Given the description of an element on the screen output the (x, y) to click on. 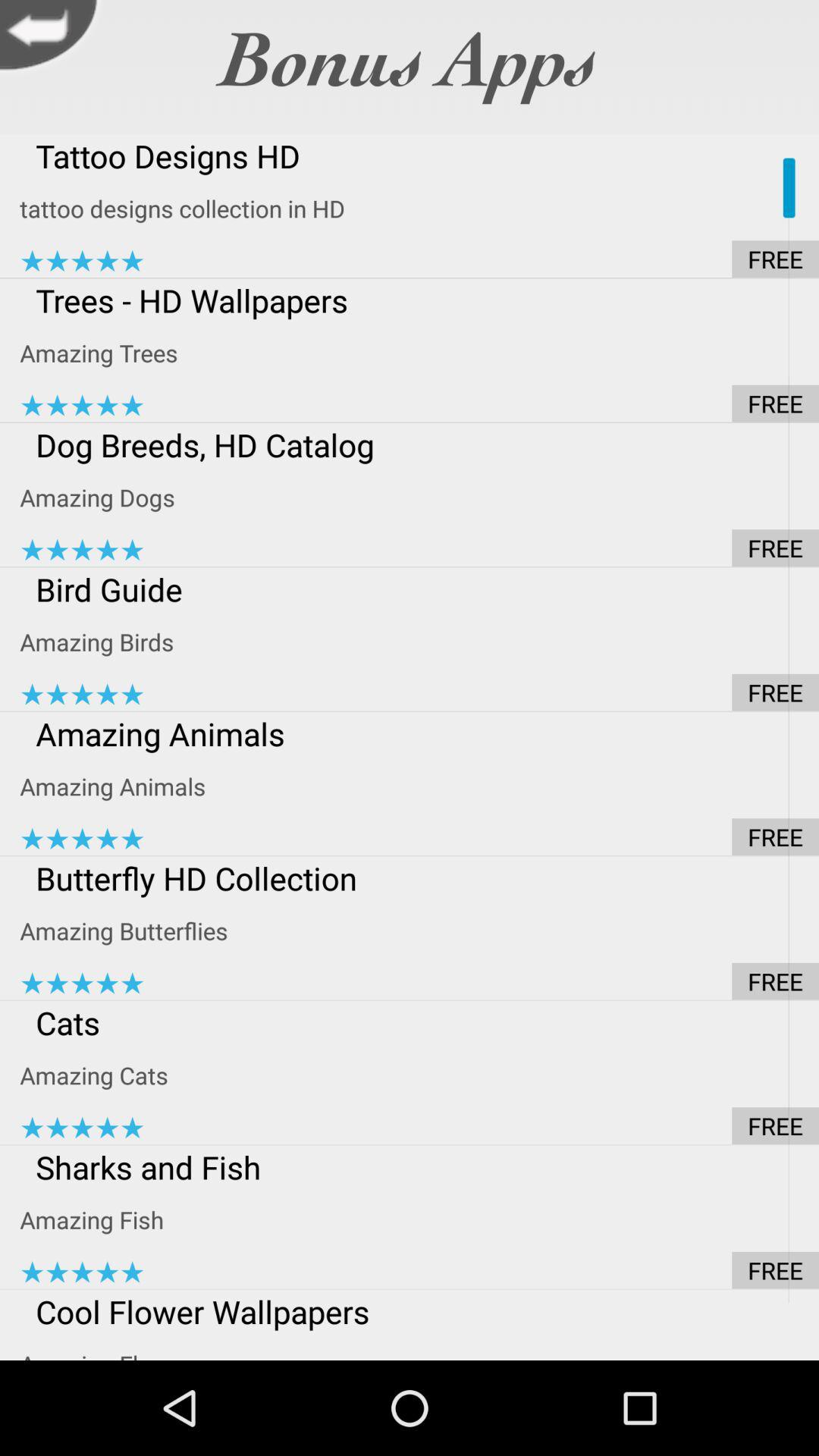
flip to the amazing birds (419, 641)
